Given the description of an element on the screen output the (x, y) to click on. 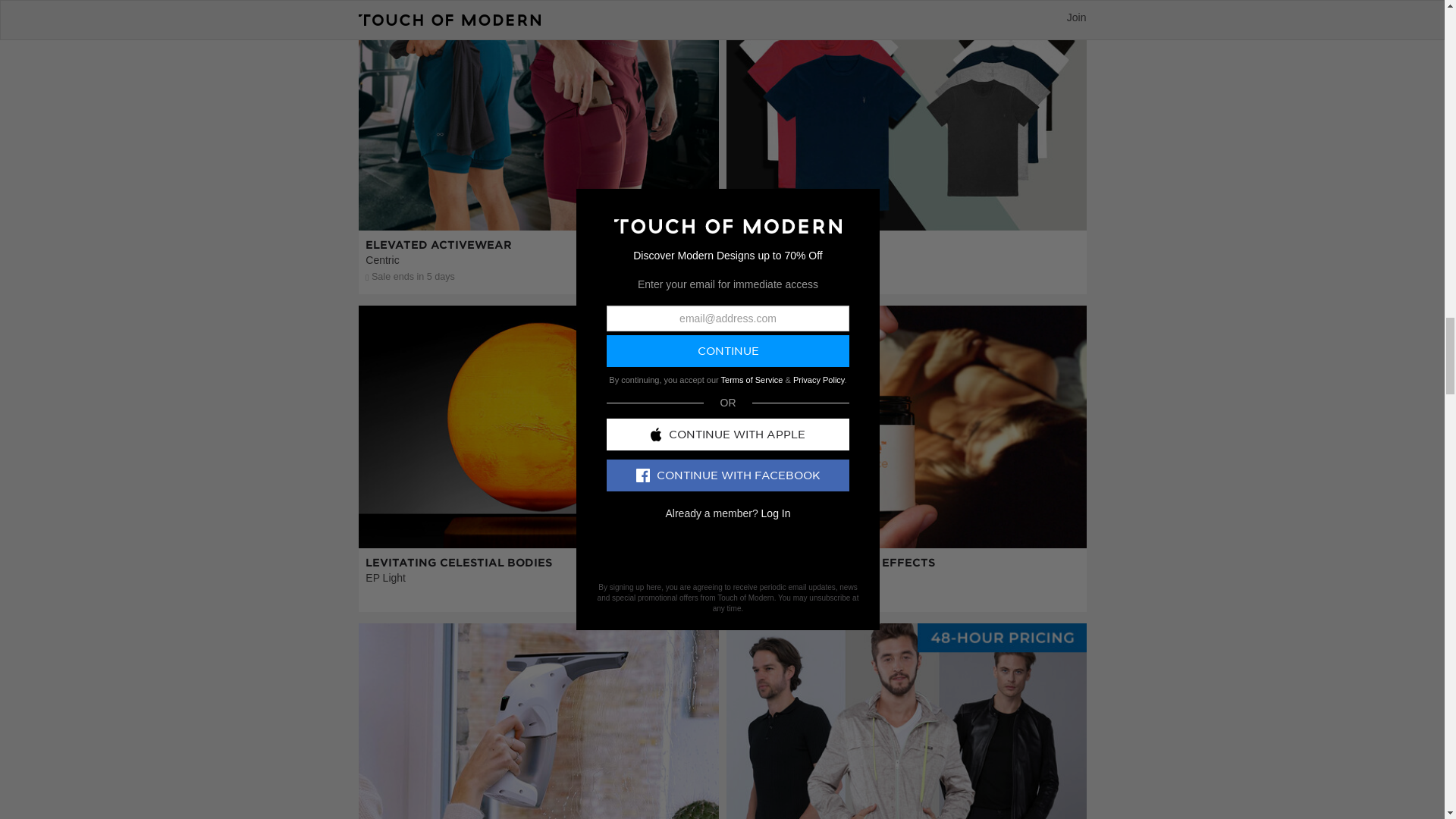
Elevated Activewear (537, 197)
The Best In Basics (906, 197)
